Given the description of an element on the screen output the (x, y) to click on. 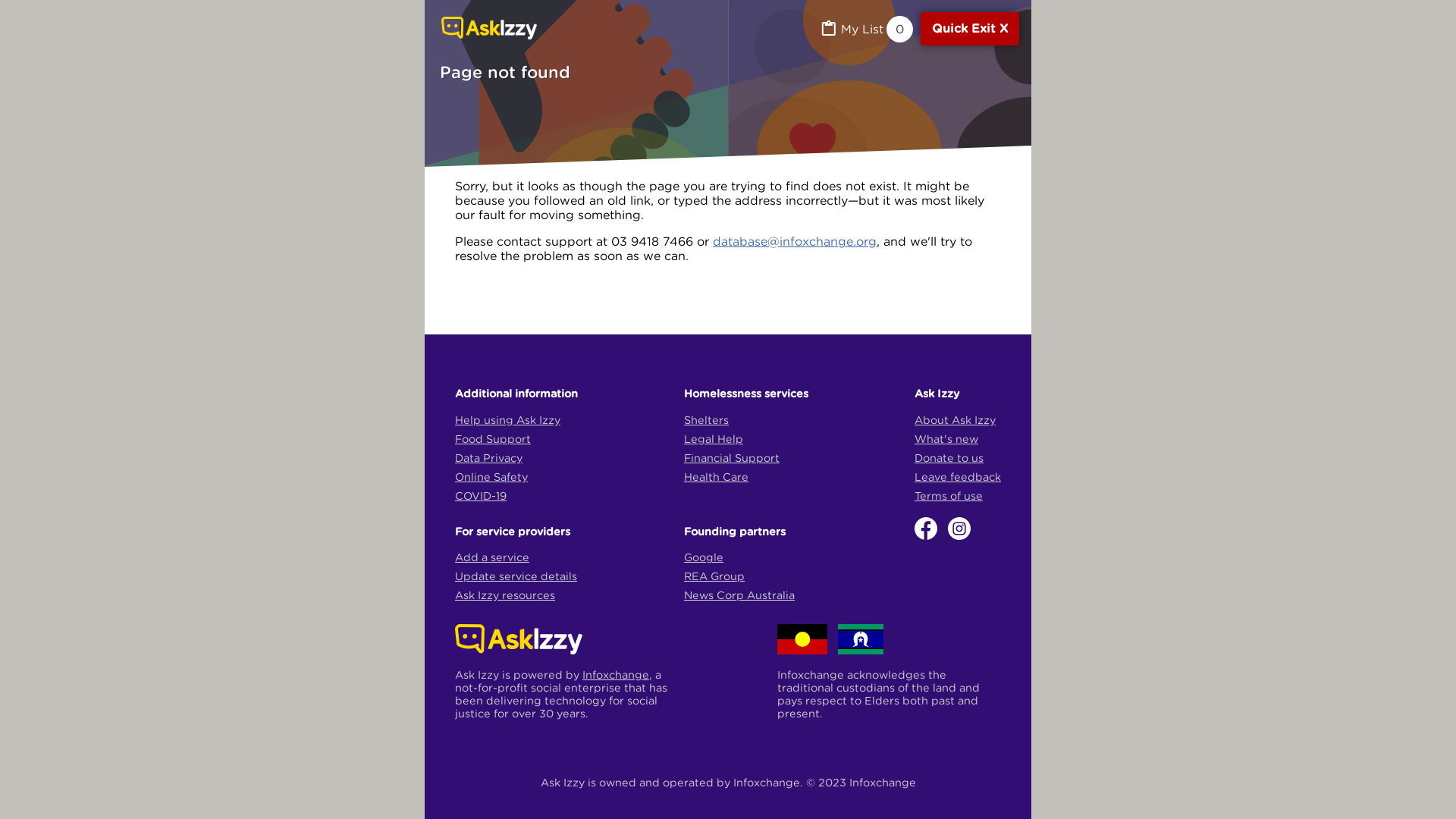
Google Element type: text (703, 556)
Help using Ask Izzy Element type: text (507, 419)
Food Support Element type: text (492, 438)
Update service details Element type: text (516, 575)
About Ask Izzy Element type: text (954, 419)
Quick Exit X Element type: text (969, 28)
News Corp Australia Element type: text (739, 594)
What's new Element type: text (946, 438)
Add a service Element type: text (492, 556)
Financial Support Element type: text (731, 457)
COVID-19 Element type: text (480, 495)
Instagram Element type: text (958, 526)
database@infoxchange.org Element type: text (794, 241)
Ask Izzy resources Element type: text (505, 594)
Donate to us Element type: text (948, 457)
Legal Help Element type: text (713, 438)
My List
0 Element type: text (866, 28)
Health Care Element type: text (716, 476)
Online Safety Element type: text (491, 476)
REA Group Element type: text (714, 575)
Facebook Element type: text (927, 526)
Terms of use Element type: text (948, 495)
Leave feedback Element type: text (957, 476)
Data Privacy Element type: text (488, 457)
Infoxchange Element type: text (615, 674)
Shelters Element type: text (706, 419)
